Given the description of an element on the screen output the (x, y) to click on. 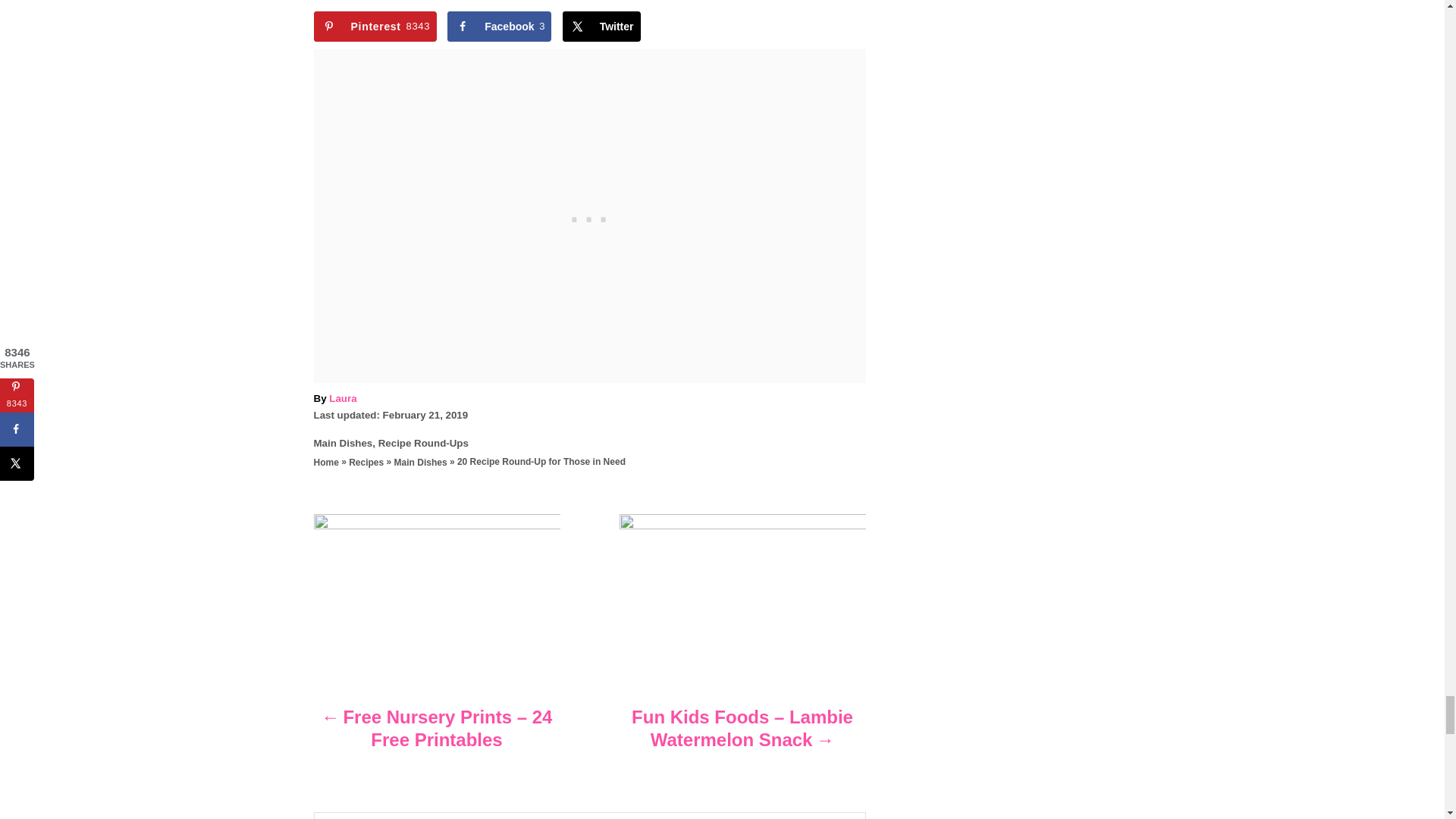
Share on Facebook (498, 26)
Save to Pinterest (375, 26)
Share on X (601, 26)
